Given the description of an element on the screen output the (x, y) to click on. 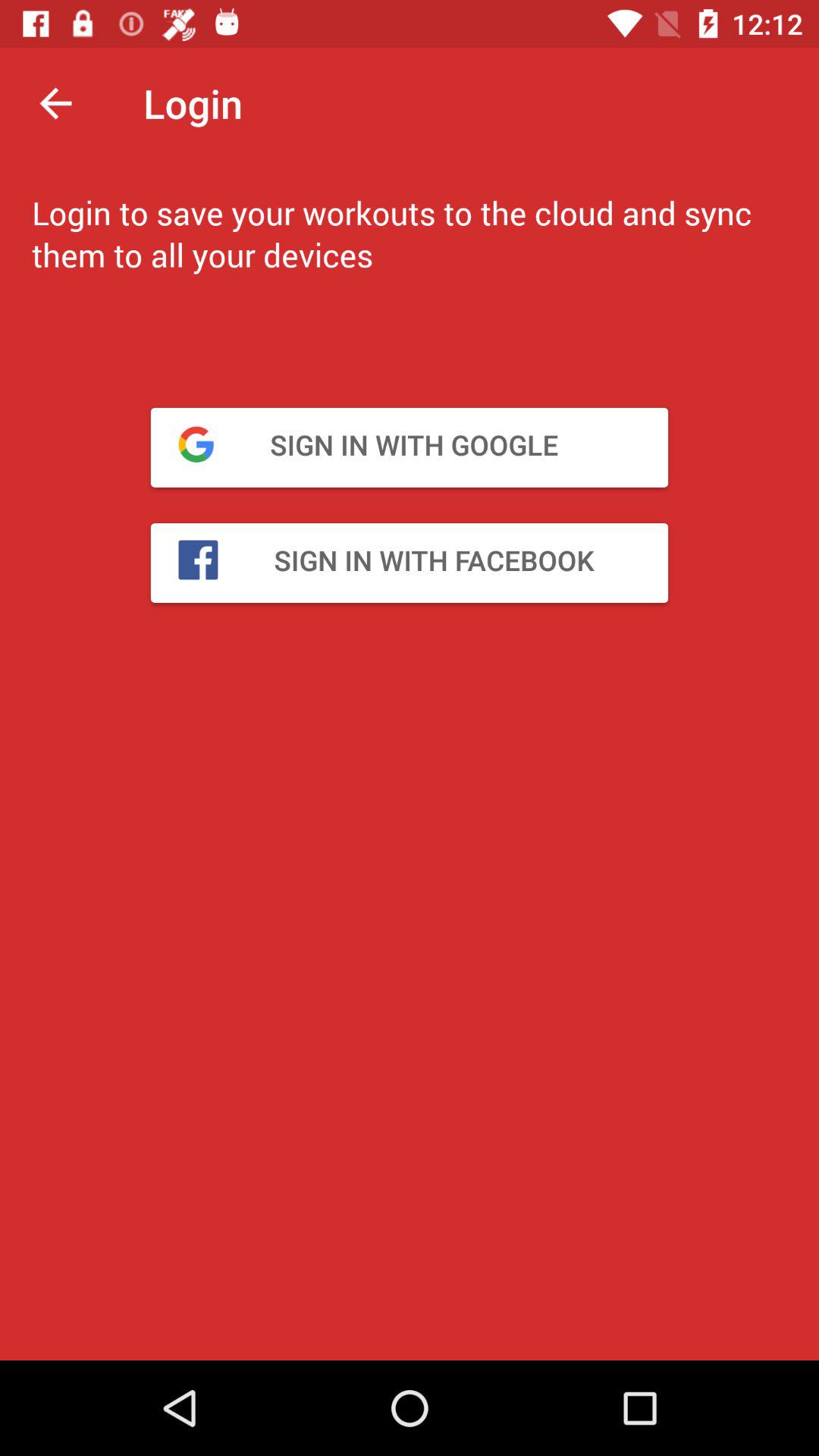
go back (55, 103)
